Given the description of an element on the screen output the (x, y) to click on. 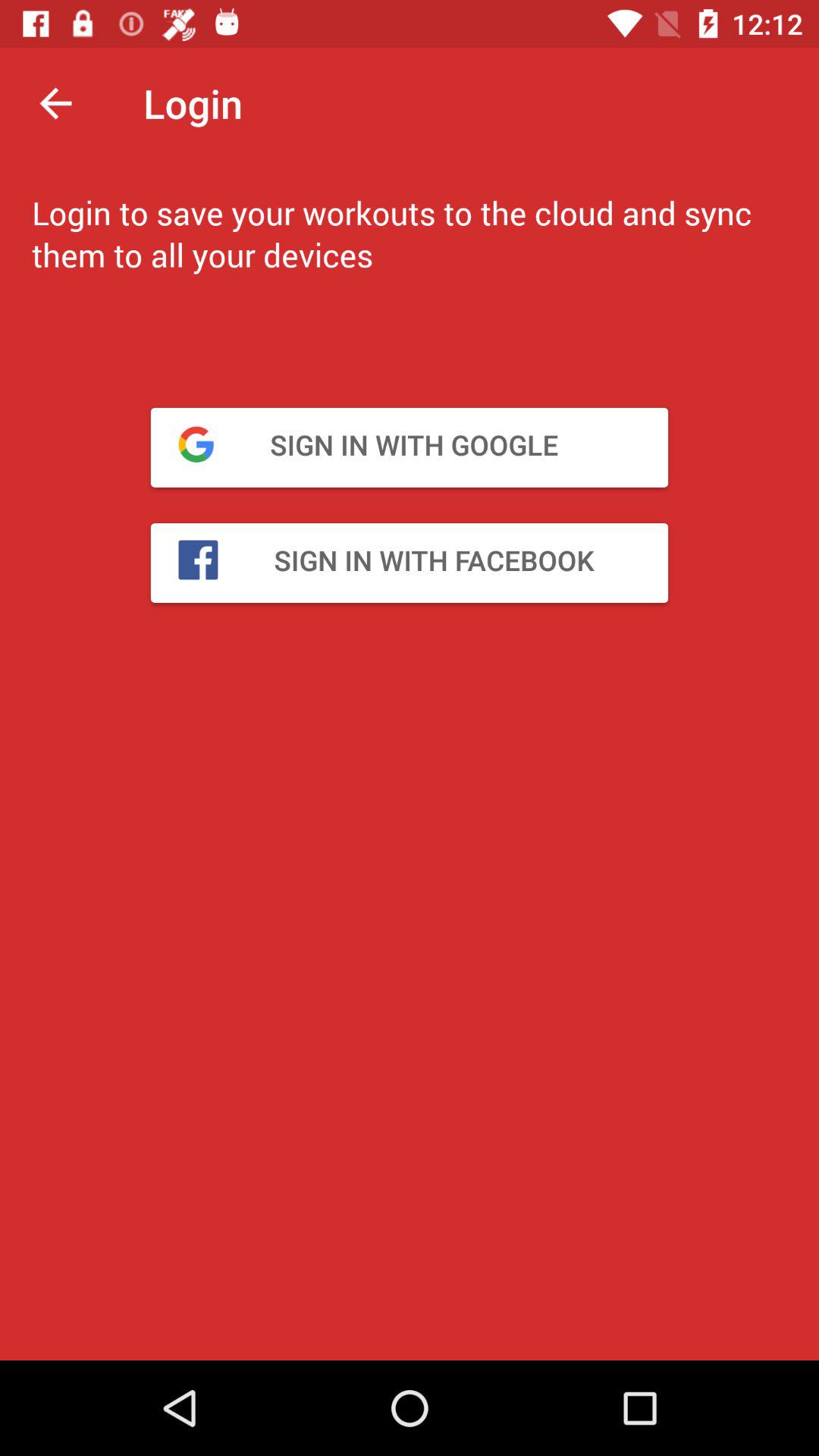
go back (55, 103)
